Given the description of an element on the screen output the (x, y) to click on. 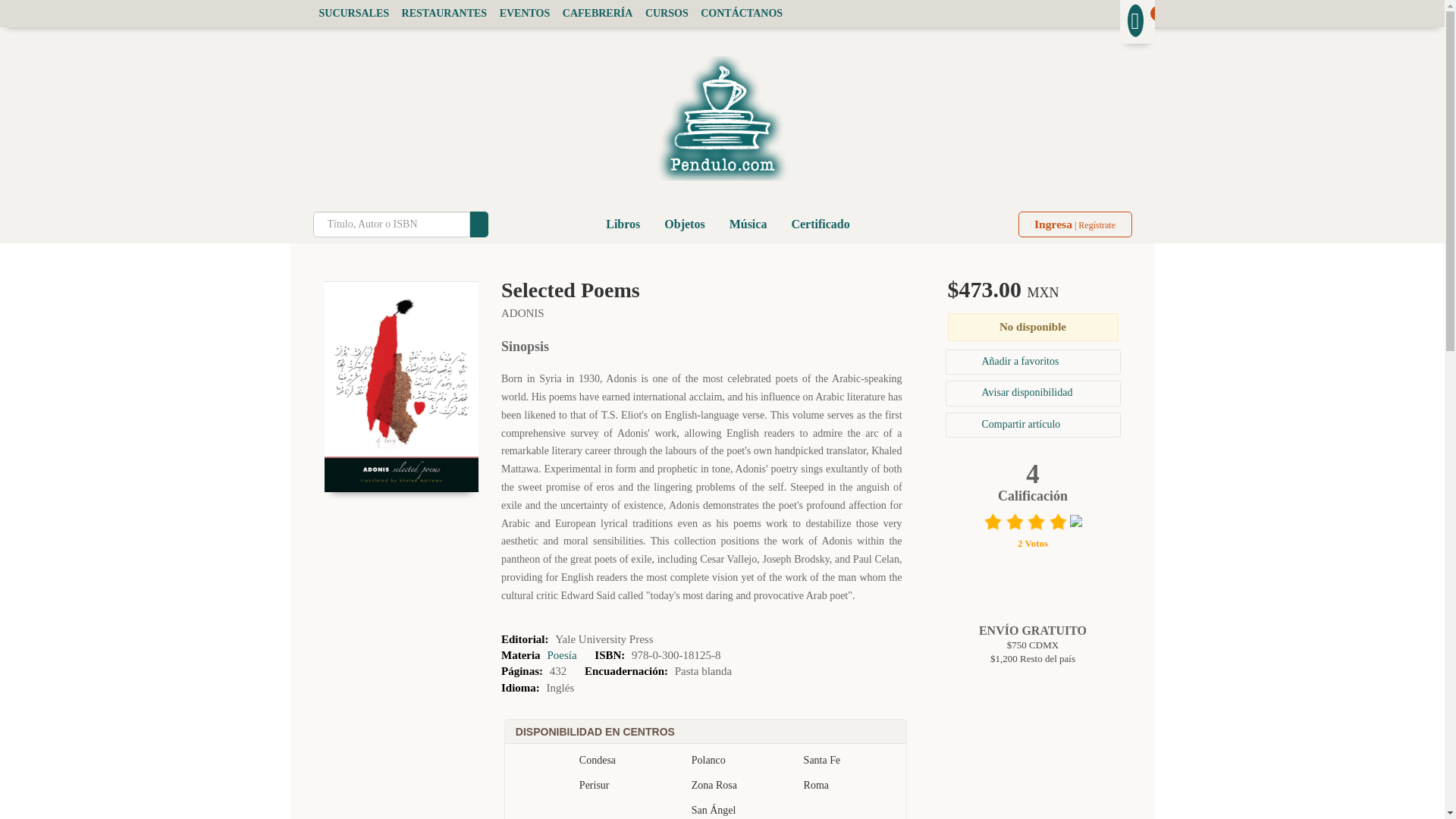
Libros (623, 224)
RESTAURANTES (444, 12)
CURSOS (666, 12)
SUCURSALES (353, 12)
EVENTOS (523, 12)
0 (1136, 20)
